Given the description of an element on the screen output the (x, y) to click on. 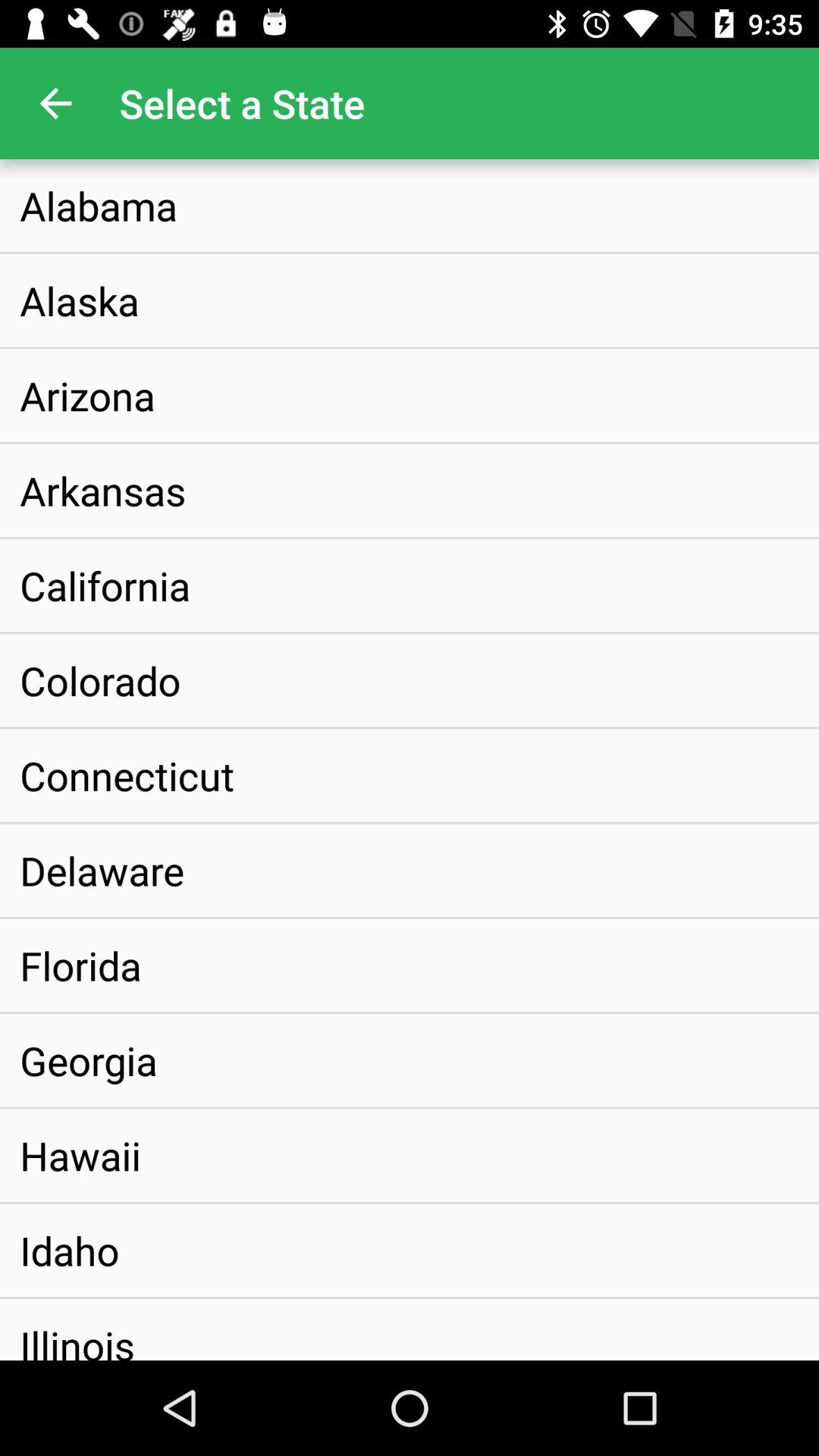
turn on the item below the idaho (77, 1329)
